Given the description of an element on the screen output the (x, y) to click on. 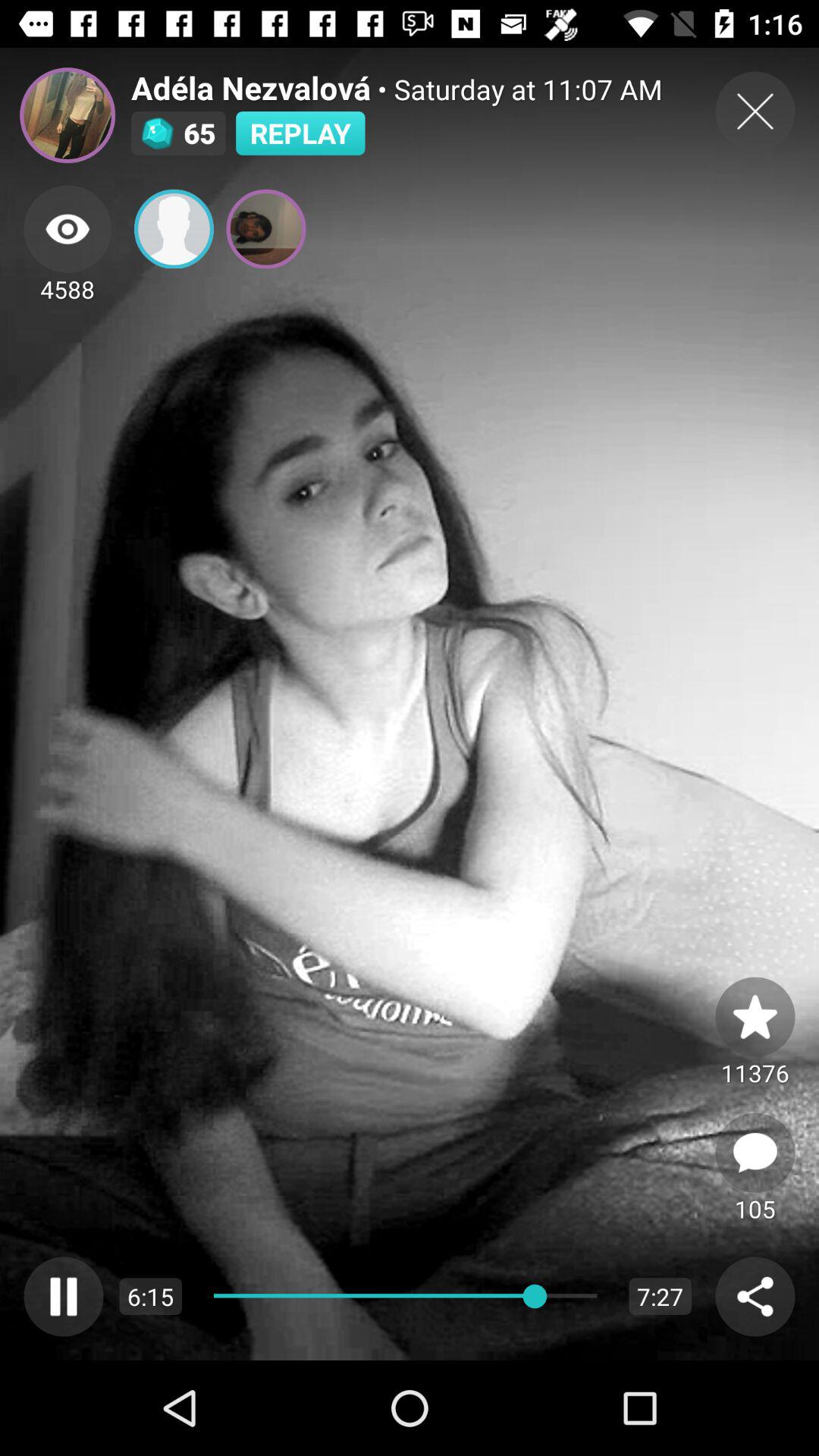
exit current screen (755, 111)
